Given the description of an element on the screen output the (x, y) to click on. 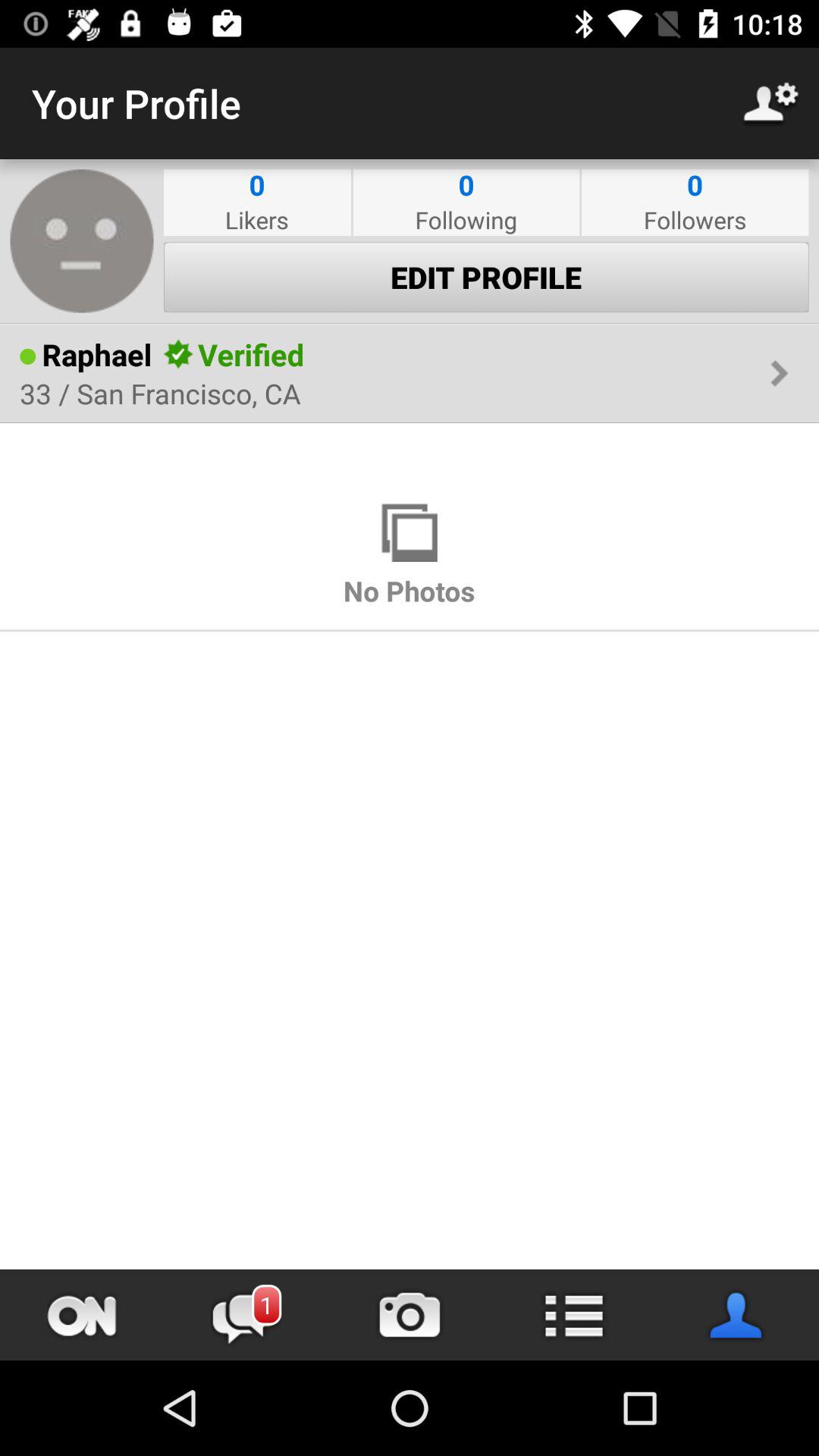
open icon next to your profile icon (771, 103)
